Given the description of an element on the screen output the (x, y) to click on. 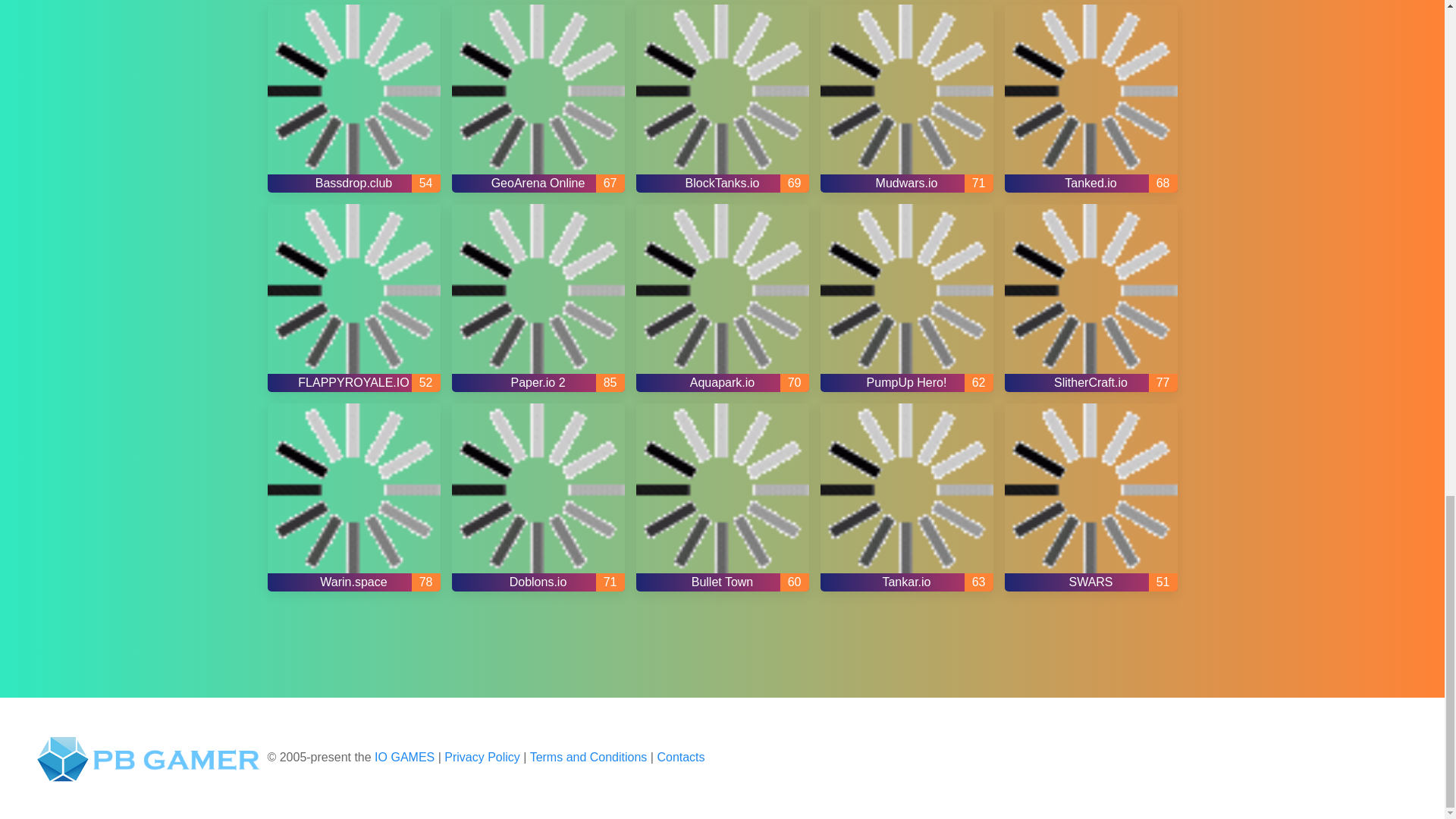
Paper.io 2 (537, 297)
Bassdrop.club (352, 98)
GeoArena Online (537, 98)
BlockTanks.io (721, 98)
Tanked.io (1090, 98)
Warin.space (352, 497)
FLAPPYROYALE.IO (352, 297)
PumpUp Hero! (906, 297)
Bullet Town (721, 497)
SlitherCraft.io (1090, 297)
Tankar.io (906, 497)
Mudwars.io (906, 98)
Doblons.io (537, 497)
SWARS (1090, 497)
Aquapark.io (721, 297)
